Given the description of an element on the screen output the (x, y) to click on. 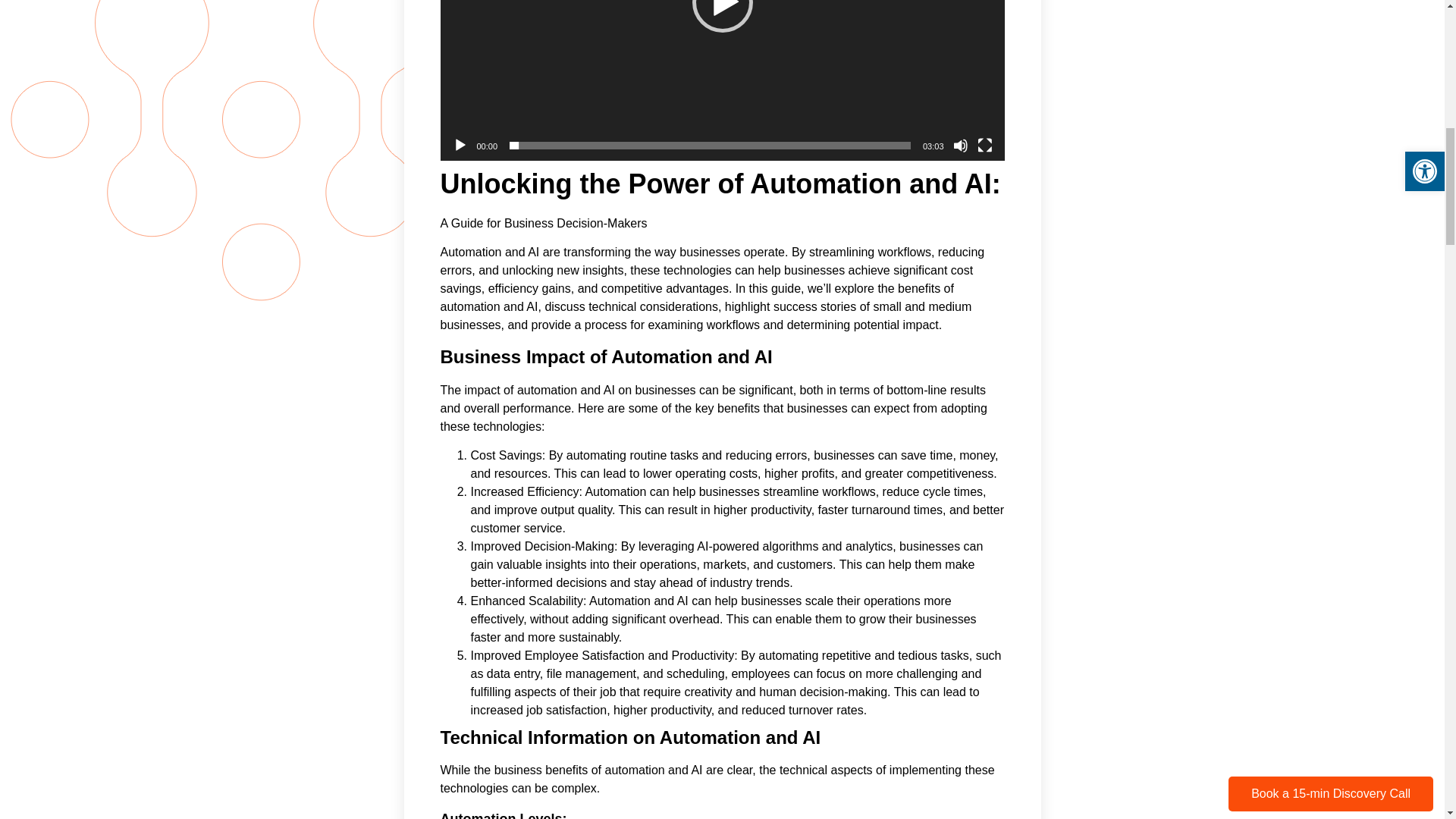
Fullscreen (983, 145)
Play (459, 145)
Mute (960, 145)
